Given the description of an element on the screen output the (x, y) to click on. 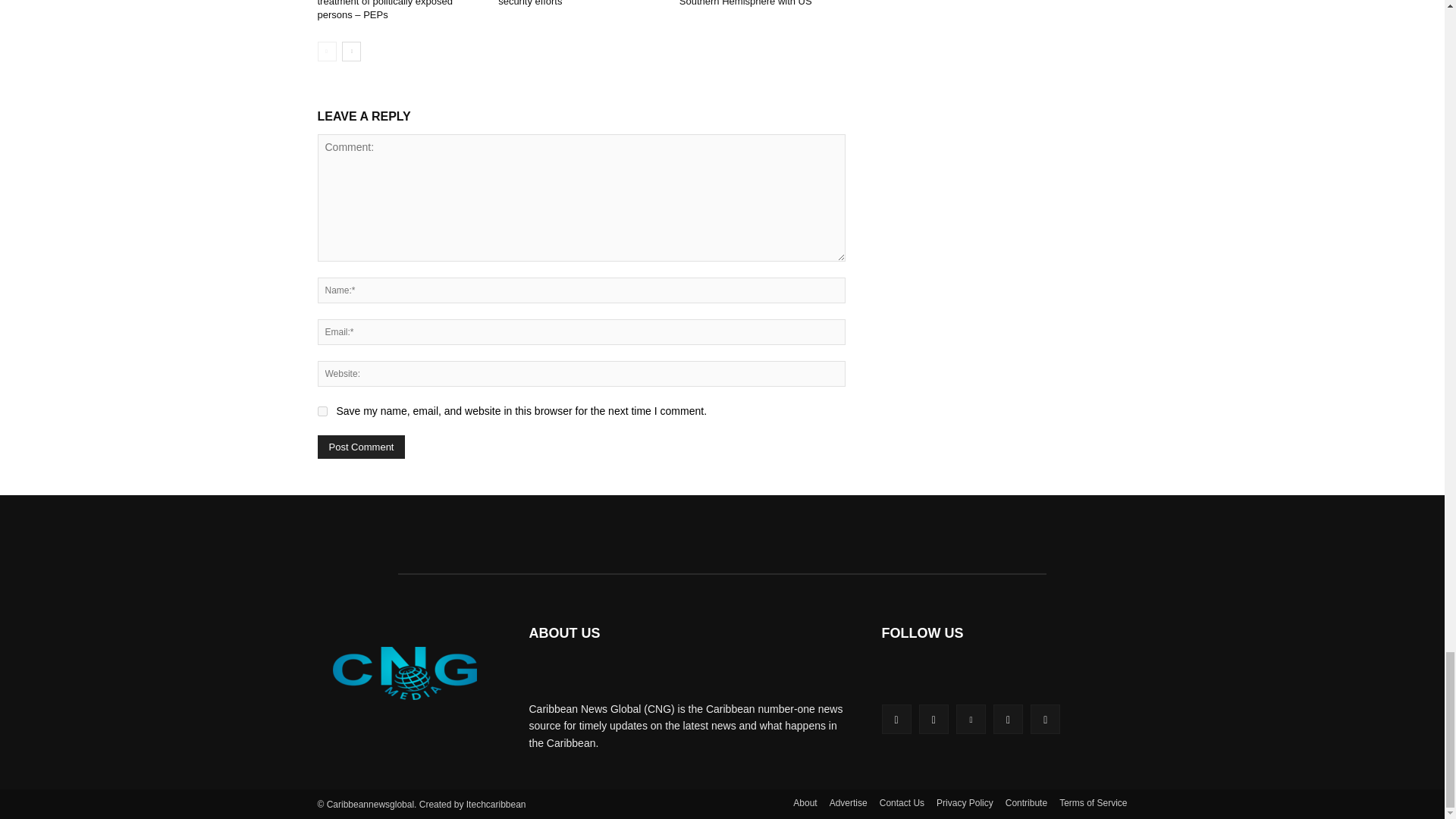
yes (321, 411)
Post Comment (360, 446)
